Given the description of an element on the screen output the (x, y) to click on. 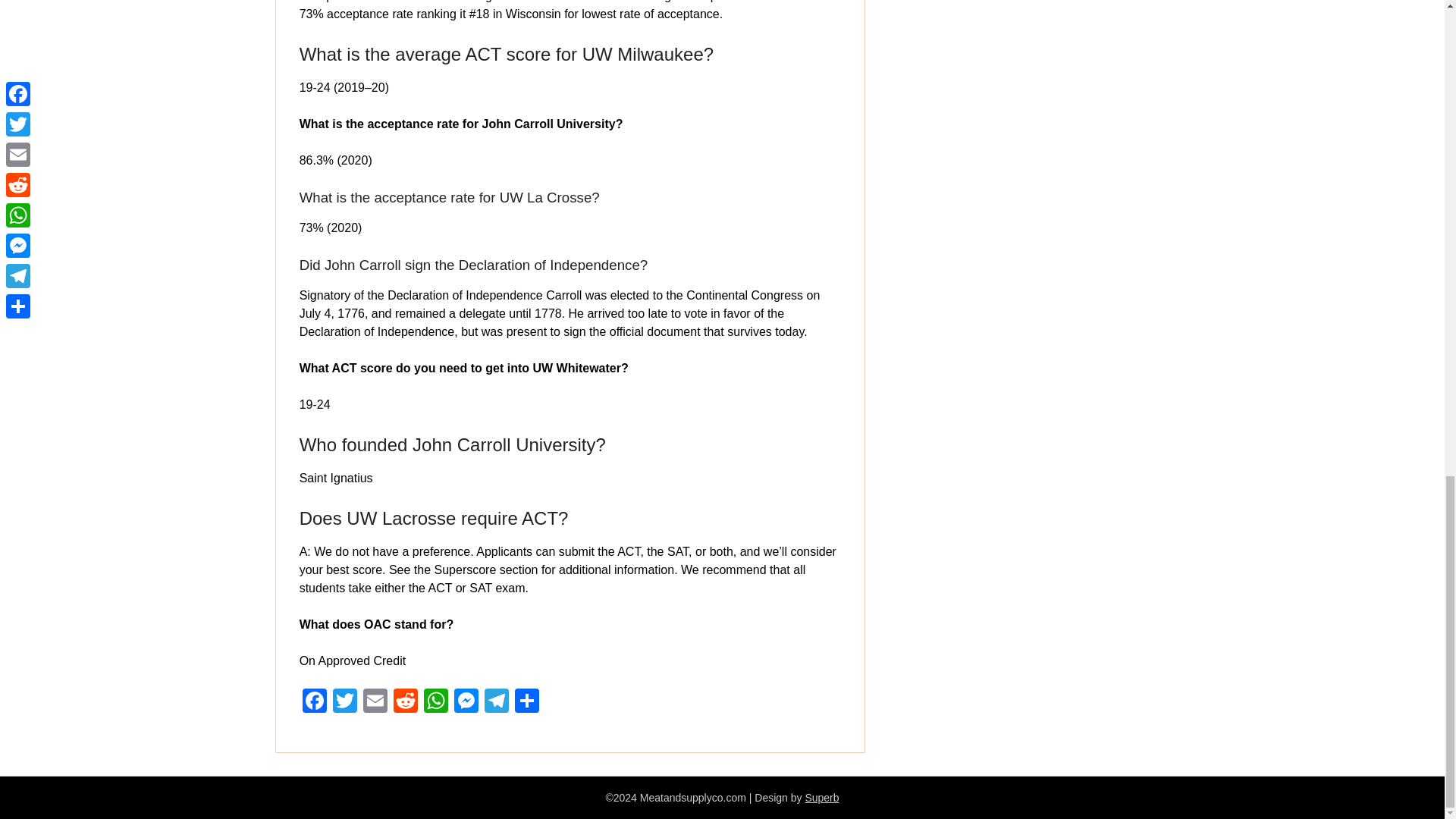
WhatsApp (435, 702)
Messenger (466, 702)
Share (526, 702)
Superb (821, 797)
Email (374, 702)
Telegram (496, 702)
WhatsApp (435, 702)
Telegram (496, 702)
Facebook (314, 702)
Reddit (405, 702)
Email (374, 702)
Reddit (405, 702)
Twitter (344, 702)
Messenger (466, 702)
Facebook (314, 702)
